Given the description of an element on the screen output the (x, y) to click on. 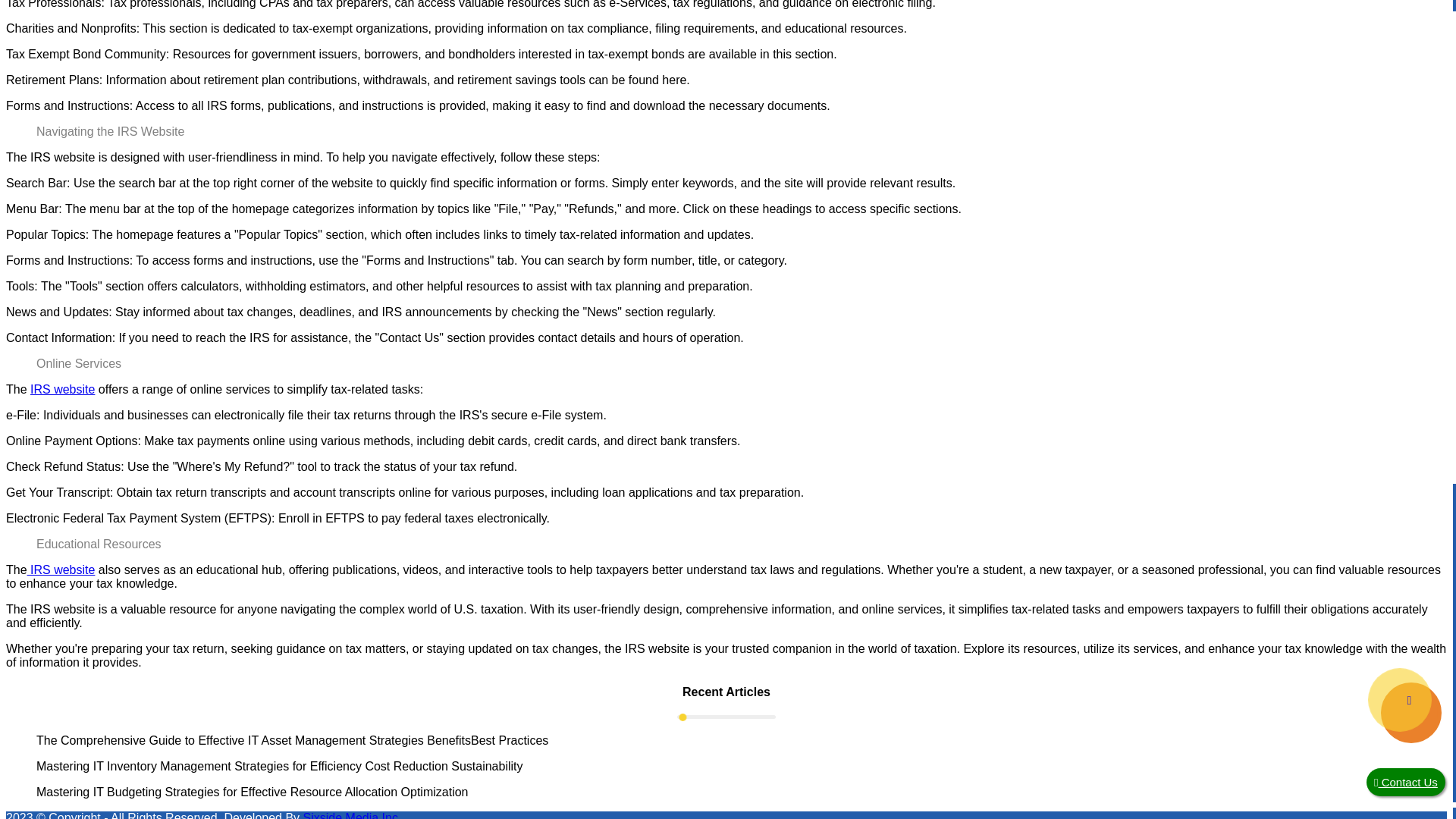
IRS website (62, 389)
IRS website (61, 569)
